Given the description of an element on the screen output the (x, y) to click on. 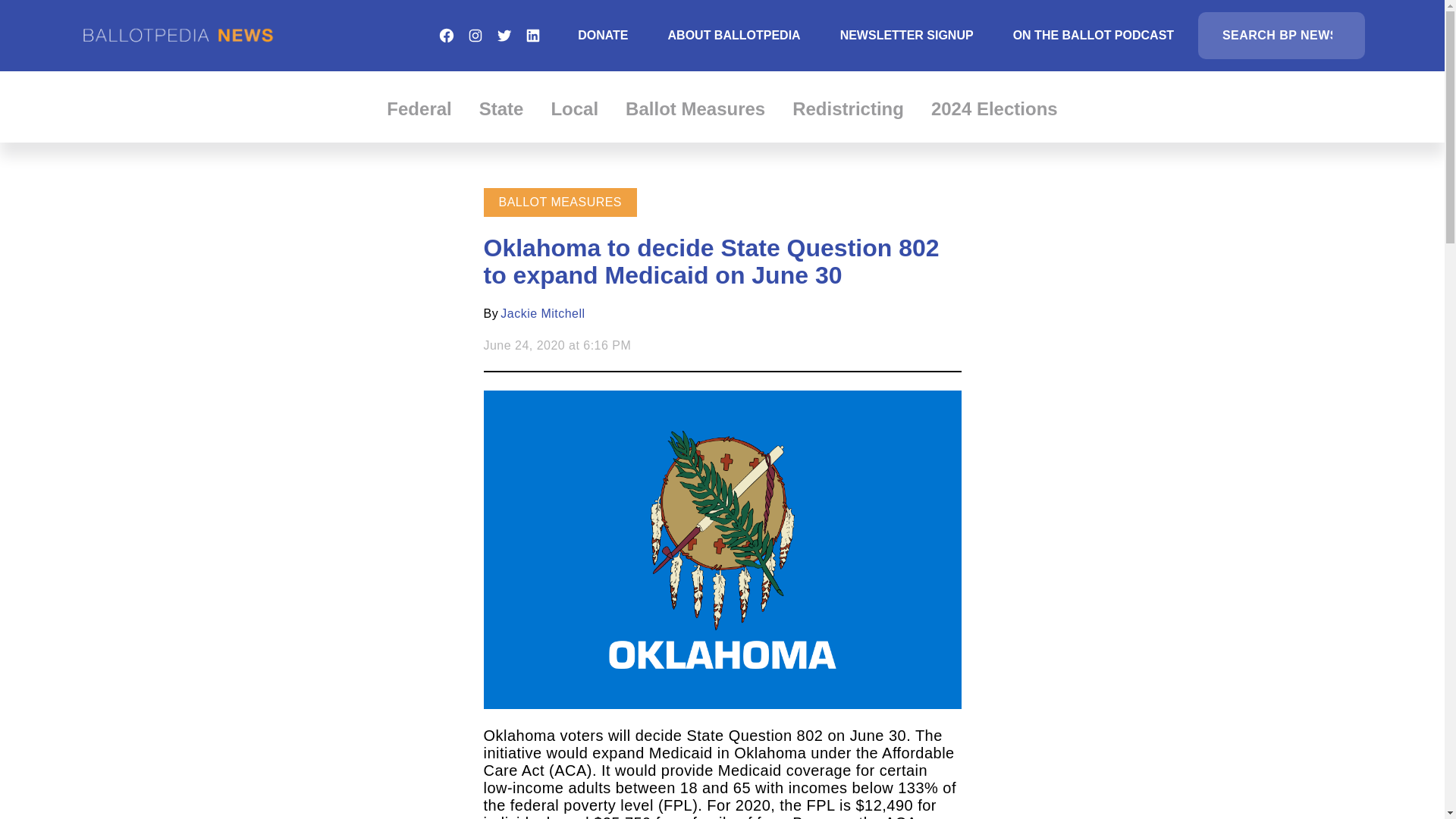
Federal (419, 108)
Instagram (475, 35)
Redistricting (848, 108)
Jackie Mitchell (542, 313)
BALLOT MEASURES (561, 201)
DONATE (602, 35)
Facebook (446, 35)
LinkedIn (532, 35)
State (501, 108)
Twitter (504, 35)
